Given the description of an element on the screen output the (x, y) to click on. 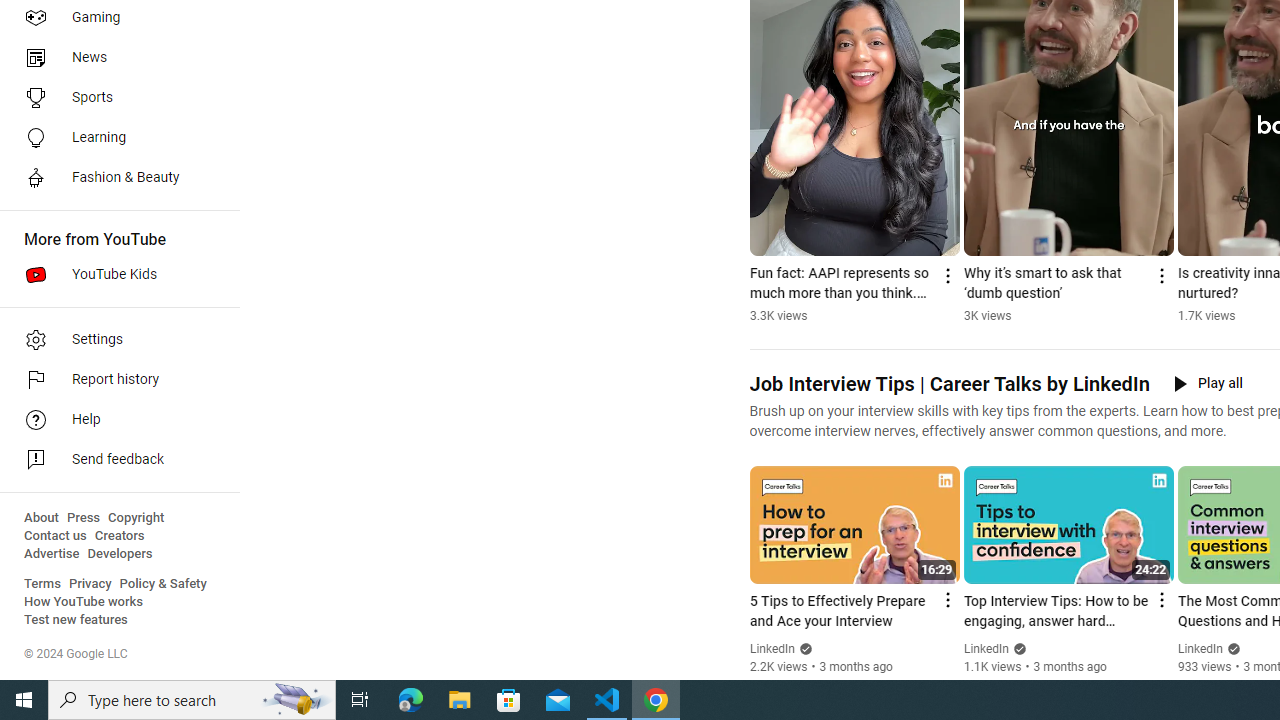
About (41, 518)
Advertise (51, 554)
Play all (1208, 384)
News (113, 57)
Verified (1231, 647)
LinkedIn (1200, 649)
Fashion & Beauty (113, 177)
Learning (113, 137)
